Given the description of an element on the screen output the (x, y) to click on. 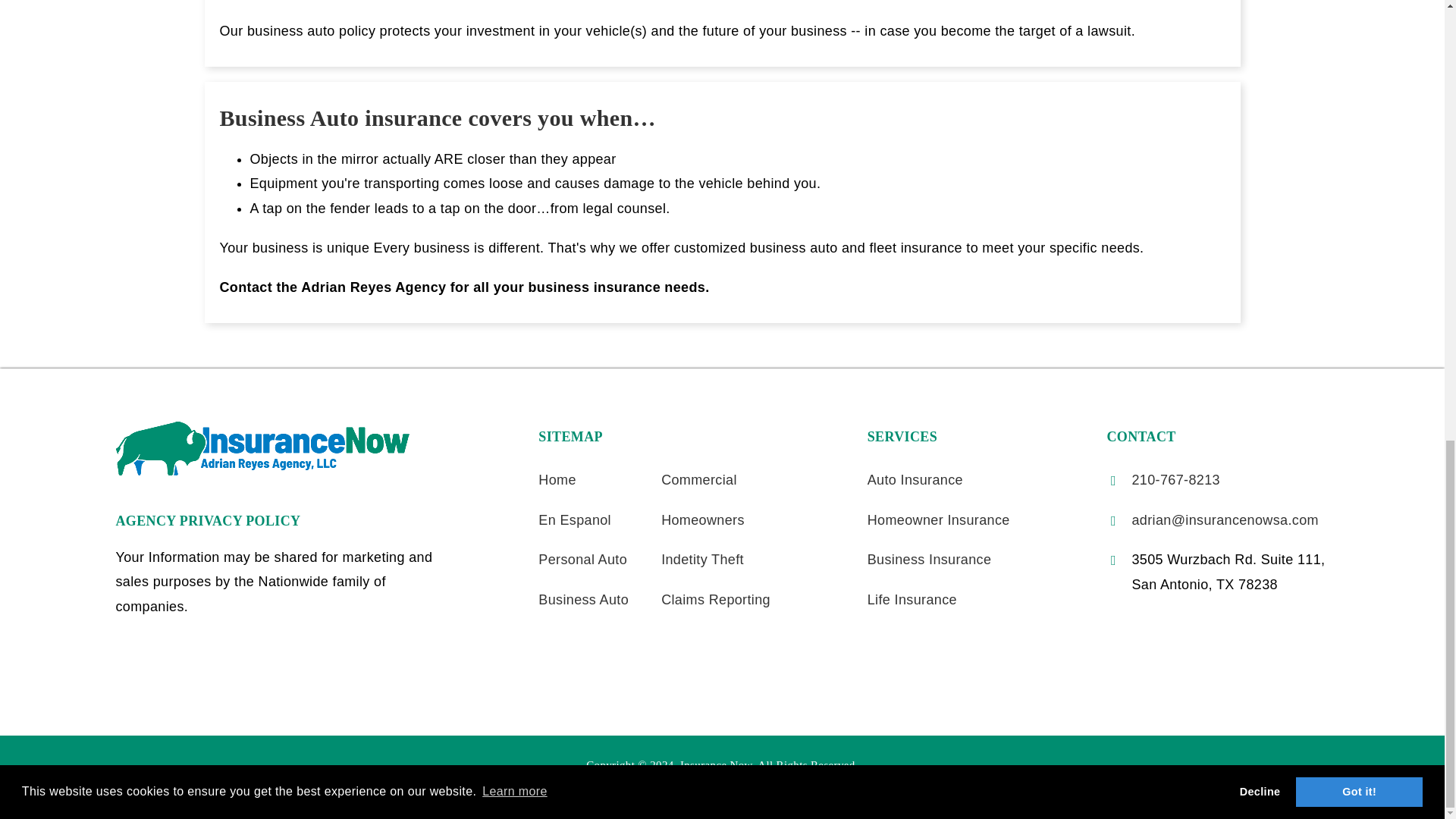
Personal Auto (582, 559)
Business Insurance (929, 559)
Business Auto (583, 599)
Auto Insurance (914, 479)
Life Insurance (911, 599)
Commercial (698, 479)
Claims Reporting (715, 599)
Homeowners (702, 519)
Homeowner Insurance (938, 519)
Home (556, 479)
Indetity Theft (702, 559)
En Espanol (574, 519)
210-767-8213 (1175, 479)
